Given the description of an element on the screen output the (x, y) to click on. 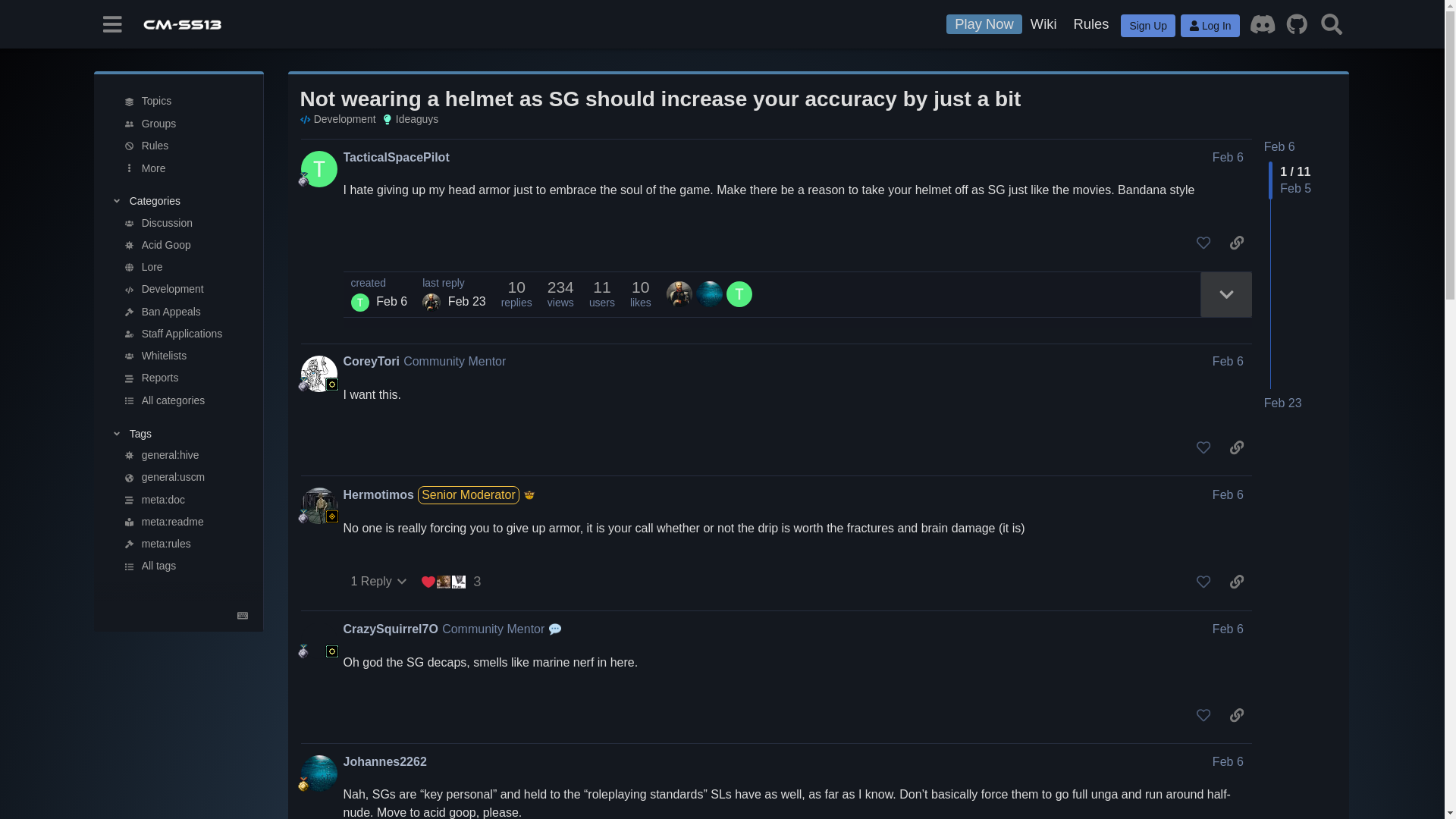
Rules (184, 146)
Development (184, 290)
Lore (184, 267)
Toggle section (178, 200)
List of available user groups (184, 124)
Whitelists (184, 355)
More (184, 168)
All tags (184, 567)
Read the Wiki (1043, 23)
meta:readme (184, 522)
Development (337, 119)
Feb 6 (1279, 146)
Topics (184, 101)
For discussion on the universe that CM-SS13 is set in. (184, 267)
